Given the description of an element on the screen output the (x, y) to click on. 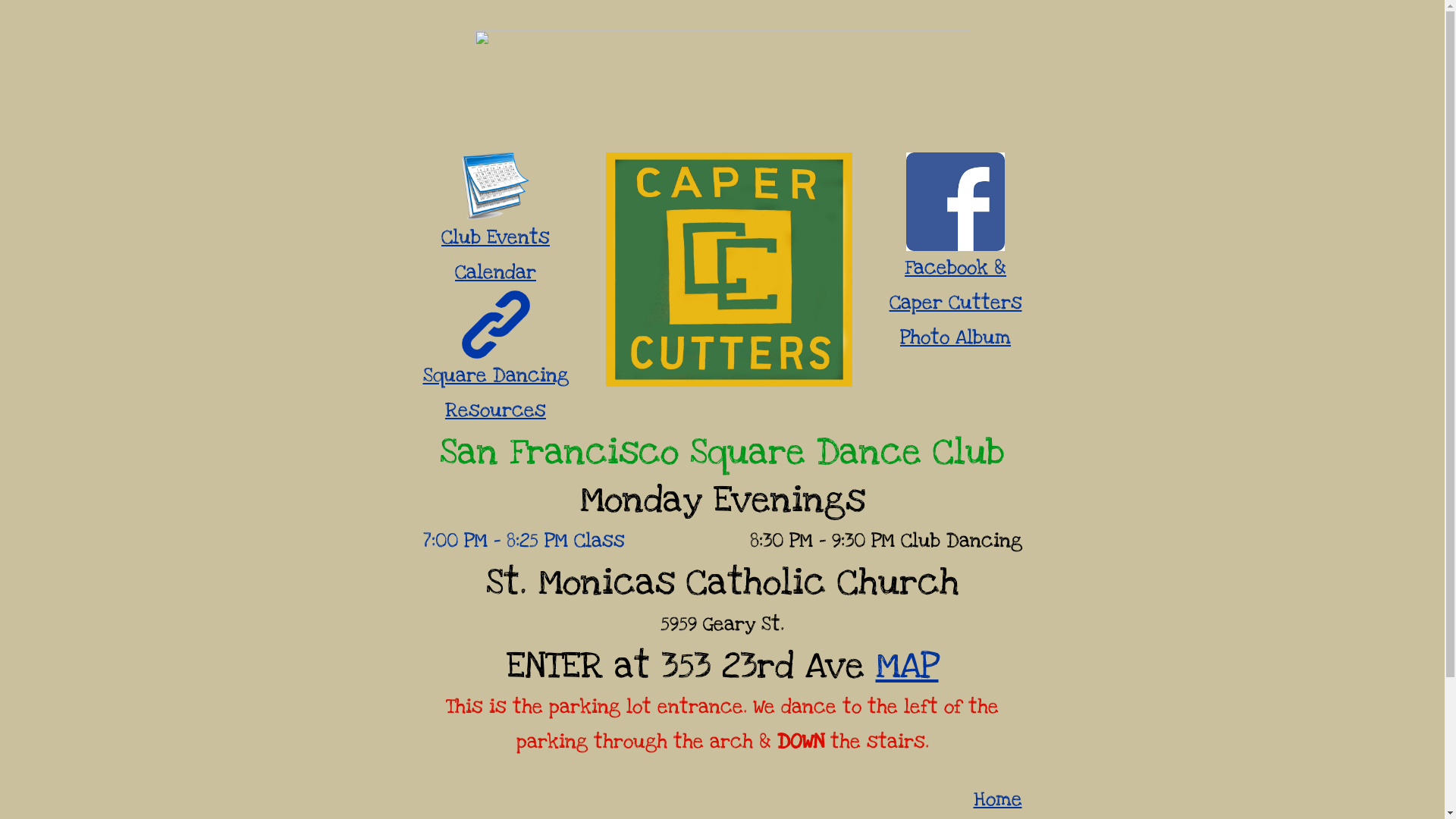
Facebook &
Caper Cutters
Photo Album Element type: text (954, 302)
MAP Element type: text (906, 666)
Home Element type: text (997, 799)
Club Events
Calendar Element type: text (495, 254)
Square Dancing
Resources Element type: text (495, 392)
